Given the description of an element on the screen output the (x, y) to click on. 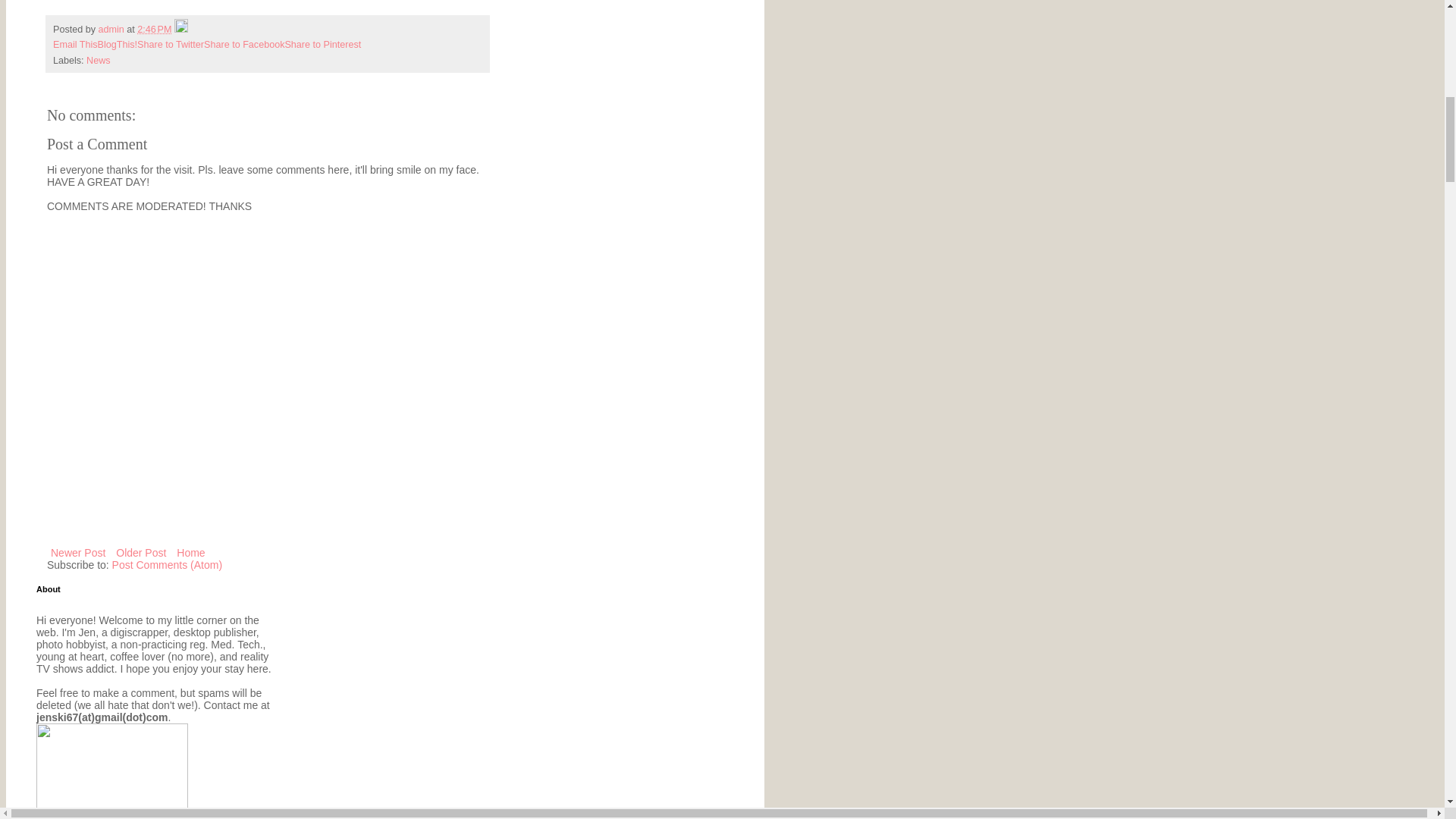
Email This (74, 44)
permanent link (153, 29)
News (97, 60)
Edit Post (180, 29)
Share to Twitter (169, 44)
Share to Twitter (169, 44)
BlogThis! (117, 44)
Older Post (141, 552)
BlogThis! (117, 44)
Home (190, 552)
Advertisement (223, 576)
Email This (74, 44)
Share to Pinterest (322, 44)
admin (113, 29)
